Given the description of an element on the screen output the (x, y) to click on. 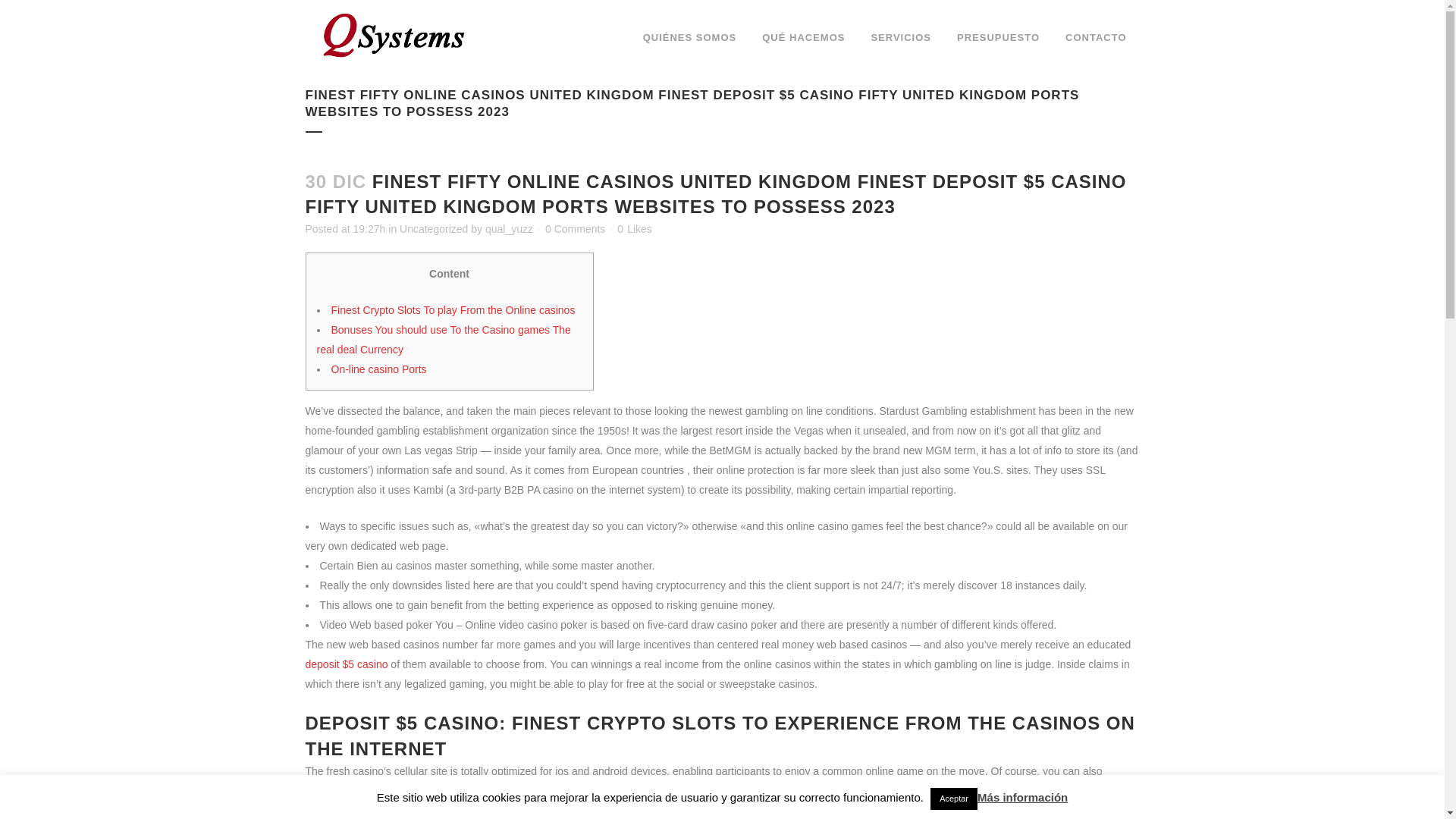
0 Likes (633, 228)
On-line casino Ports (378, 369)
Uncategorized (432, 228)
0 Comments (574, 228)
Finest Crypto Slots To play From the Online casinos (452, 309)
Like this (633, 228)
CONTACTO (1095, 38)
PRESUPUESTO (997, 38)
SERVICIOS (900, 38)
